Given the description of an element on the screen output the (x, y) to click on. 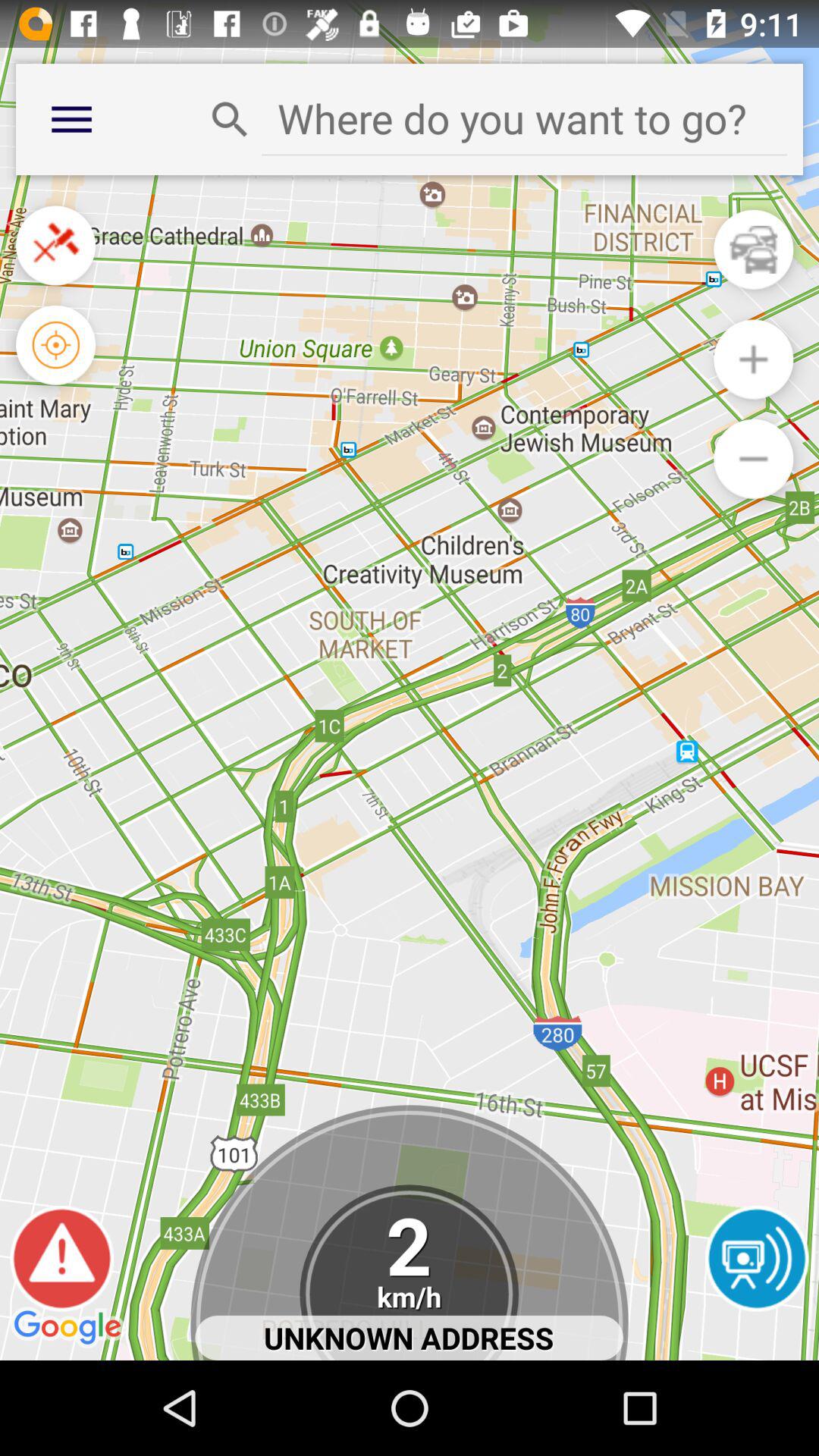
zoom out (753, 458)
